Given the description of an element on the screen output the (x, y) to click on. 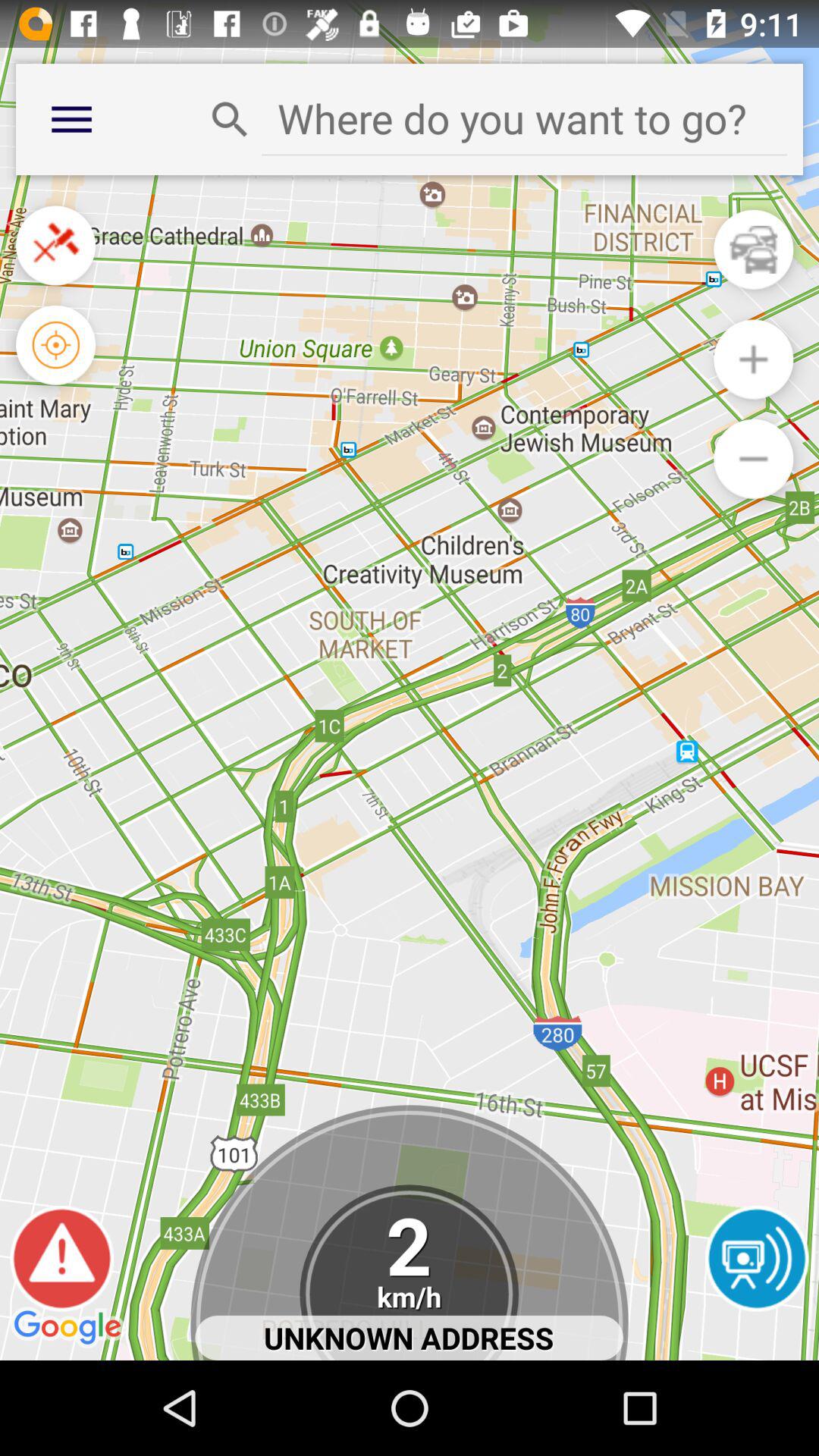
zoom out (753, 458)
